Given the description of an element on the screen output the (x, y) to click on. 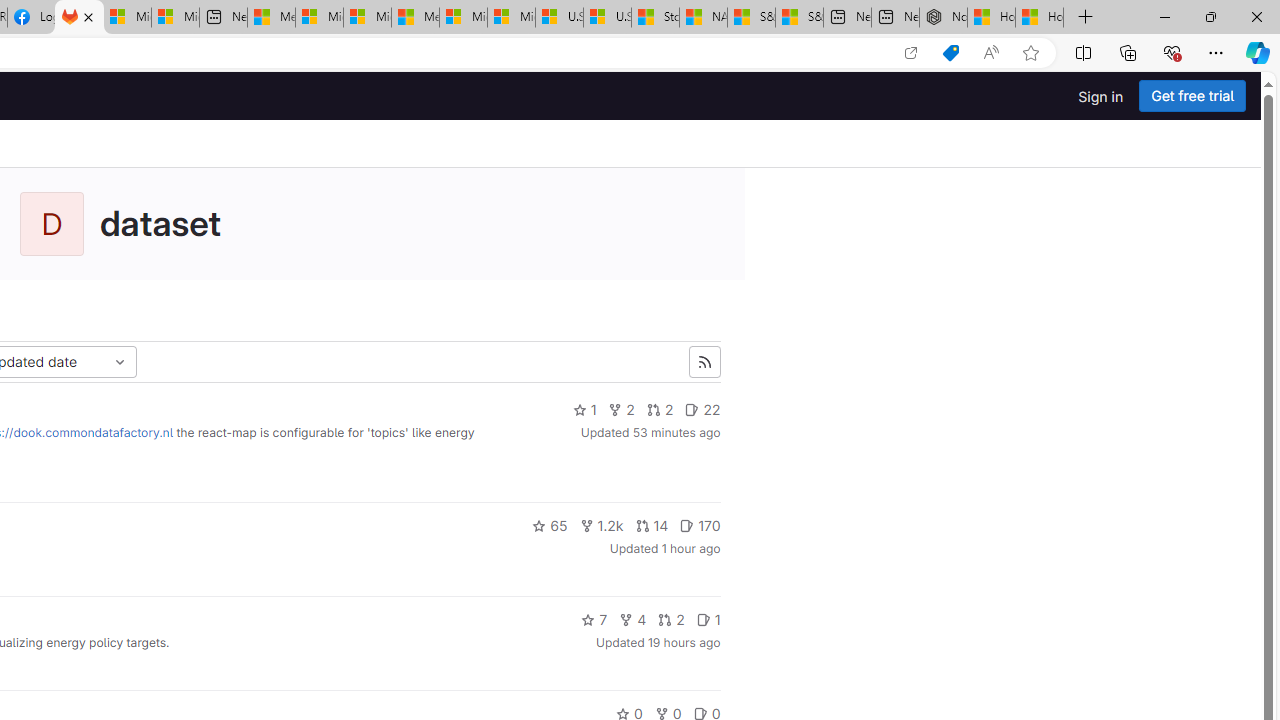
Settings and more (Alt+F) (1215, 52)
Sign in (1100, 95)
65 (550, 525)
Read aloud this page (Ctrl+Shift+U) (991, 53)
Class: s16 gl-icon gl-button-icon  (704, 362)
Close (1256, 16)
Restore (1210, 16)
14 (651, 525)
Open in app (910, 53)
170 (699, 525)
Get free trial (1192, 95)
